Given the description of an element on the screen output the (x, y) to click on. 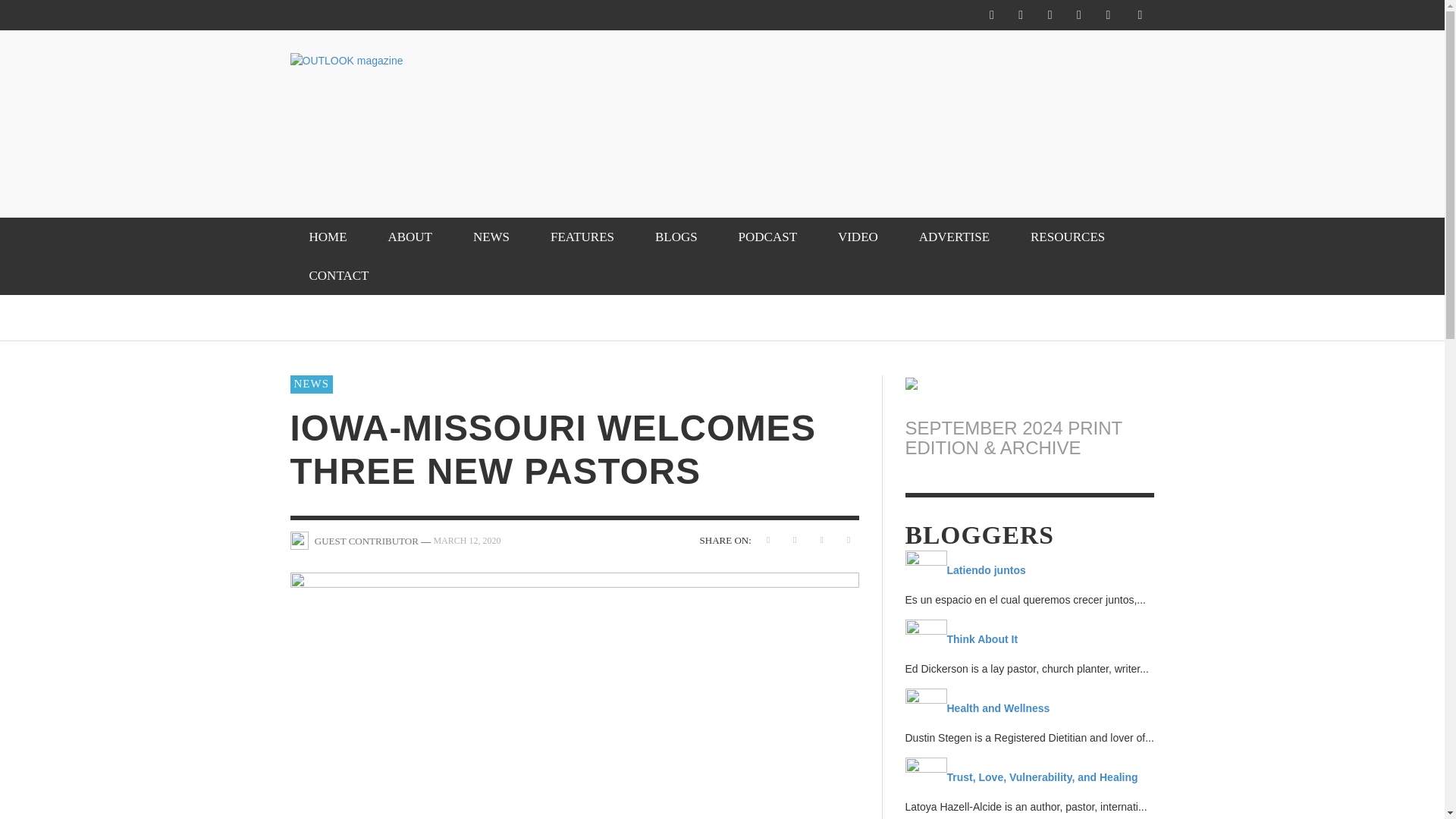
Twitter (1049, 15)
NEWS (491, 236)
ABOUT (409, 236)
Instagram (1020, 15)
HOME (327, 236)
Facebook (991, 15)
Vimeo (1078, 15)
FEATURES (582, 236)
Youtube (1107, 15)
